Given the description of an element on the screen output the (x, y) to click on. 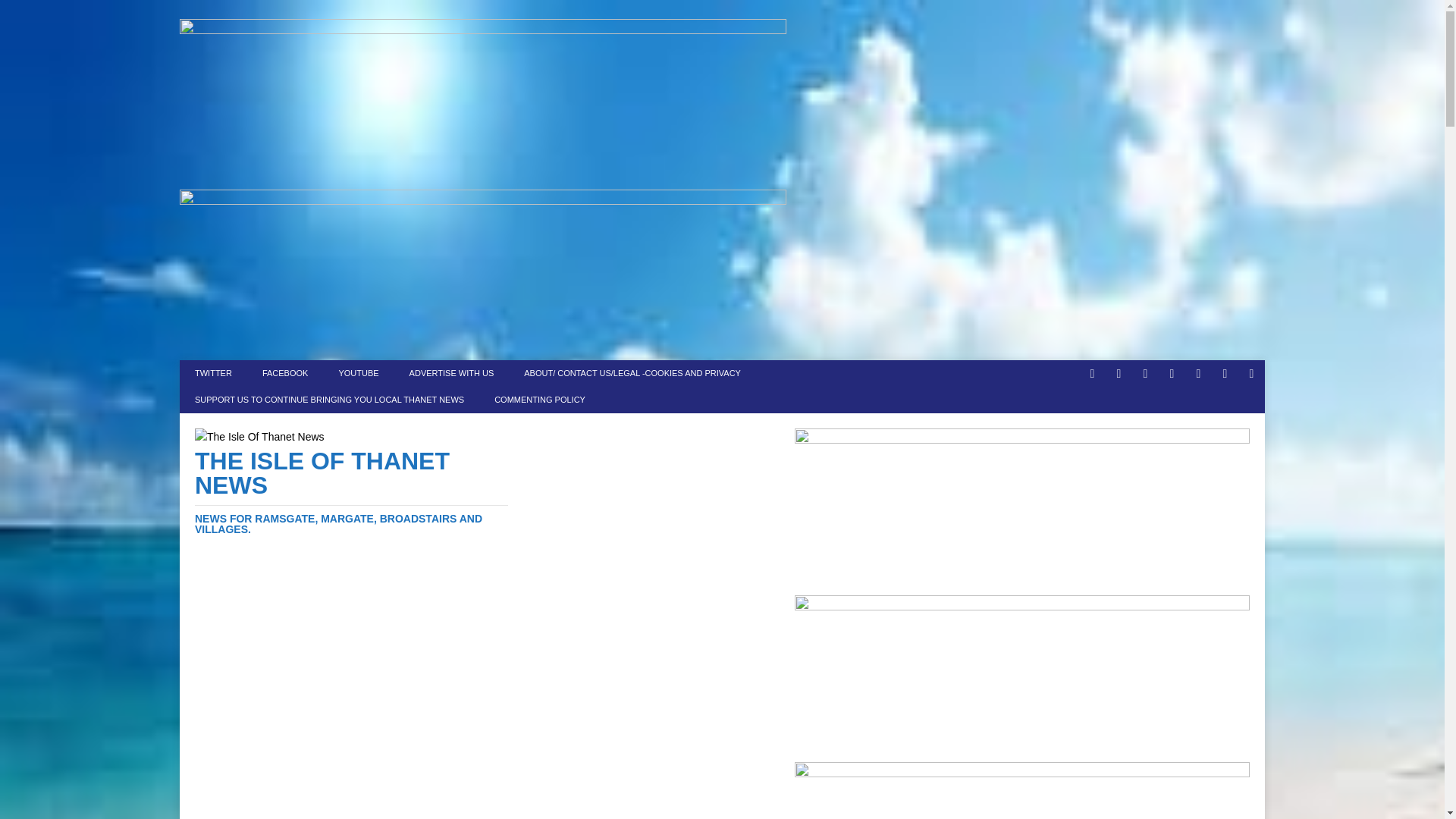
The Isle Of Thanet News (351, 491)
COMMENTING POLICY (539, 399)
SUPPORT US TO CONTINUE BRINGING YOU LOCAL THANET NEWS (329, 399)
YOUTUBE (358, 373)
FACEBOOK (285, 373)
TWITTER (213, 373)
ADVERTISE WITH US (451, 373)
